Given the description of an element on the screen output the (x, y) to click on. 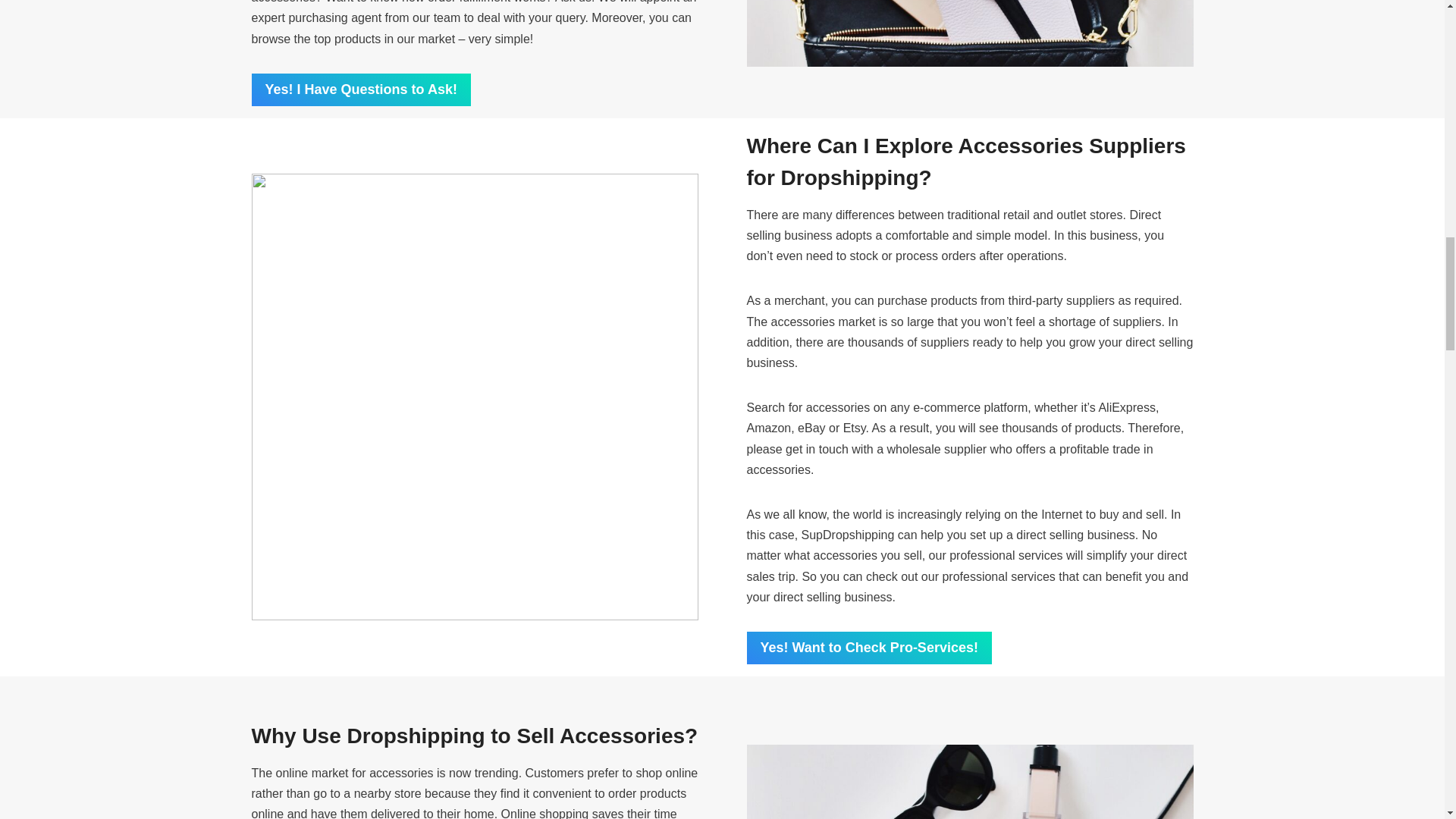
Yes! I Have Questions to Ask! (360, 89)
Yes! Want to Check Pro-Services! (868, 647)
